Given the description of an element on the screen output the (x, y) to click on. 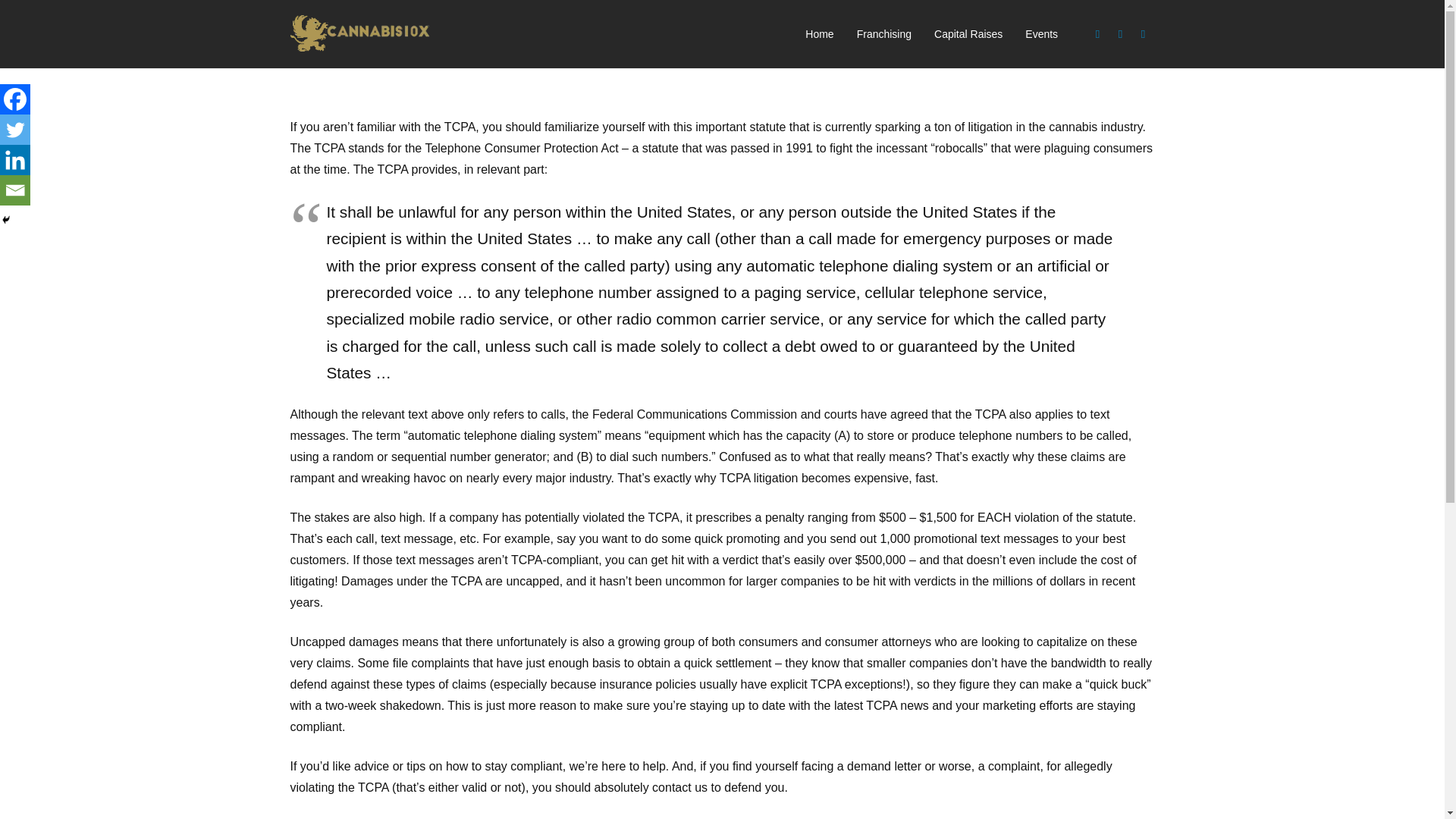
LinkedIn (1143, 33)
Twitter (15, 129)
Events (1040, 34)
Franchising (884, 34)
Home (818, 34)
Hide (5, 219)
Linkedin (15, 159)
Facebook (15, 99)
Capital Raises (968, 34)
Email (15, 190)
Twitter (1120, 33)
Facebook (1097, 33)
